Given the description of an element on the screen output the (x, y) to click on. 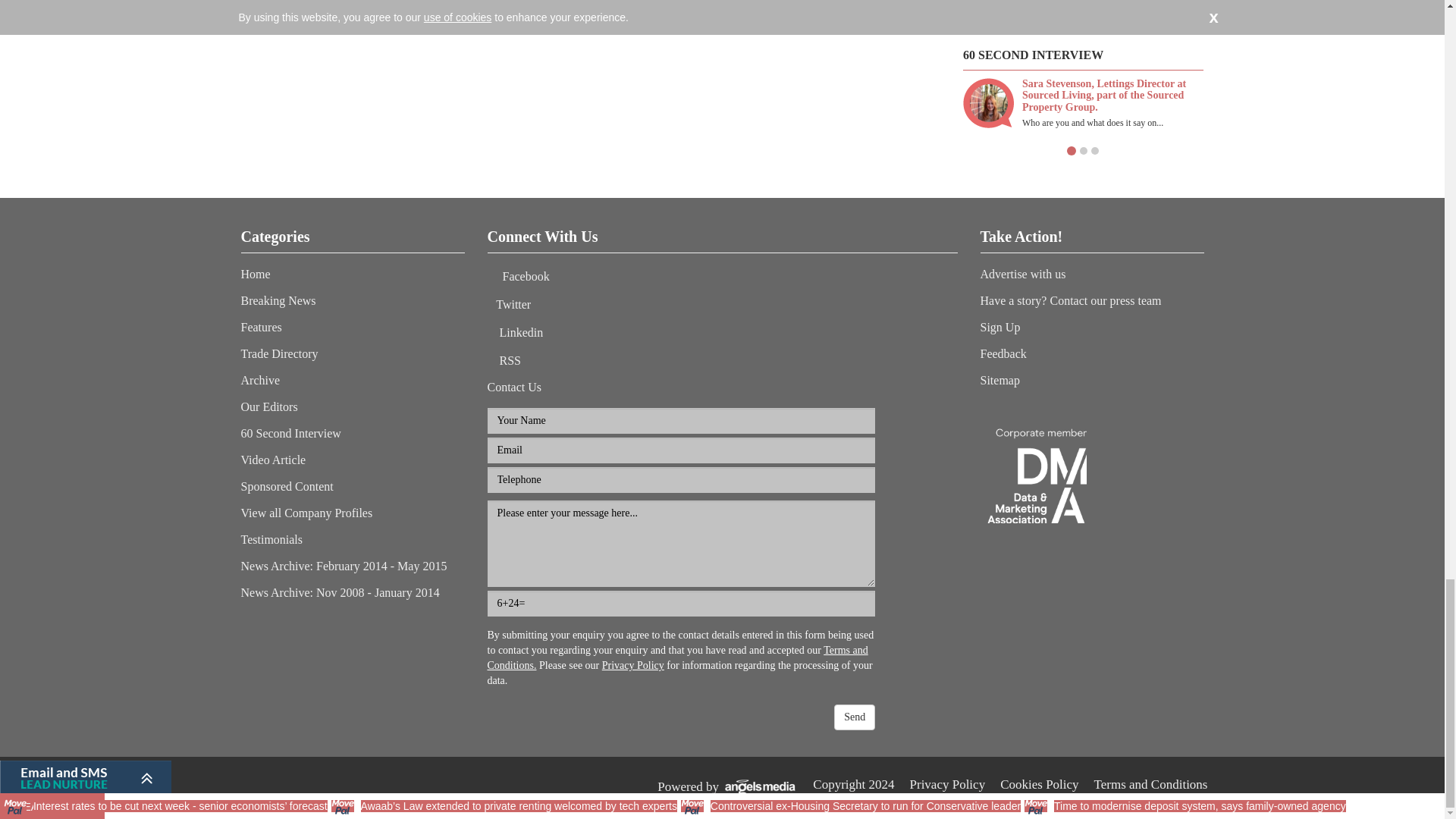
Send (854, 717)
